Given the description of an element on the screen output the (x, y) to click on. 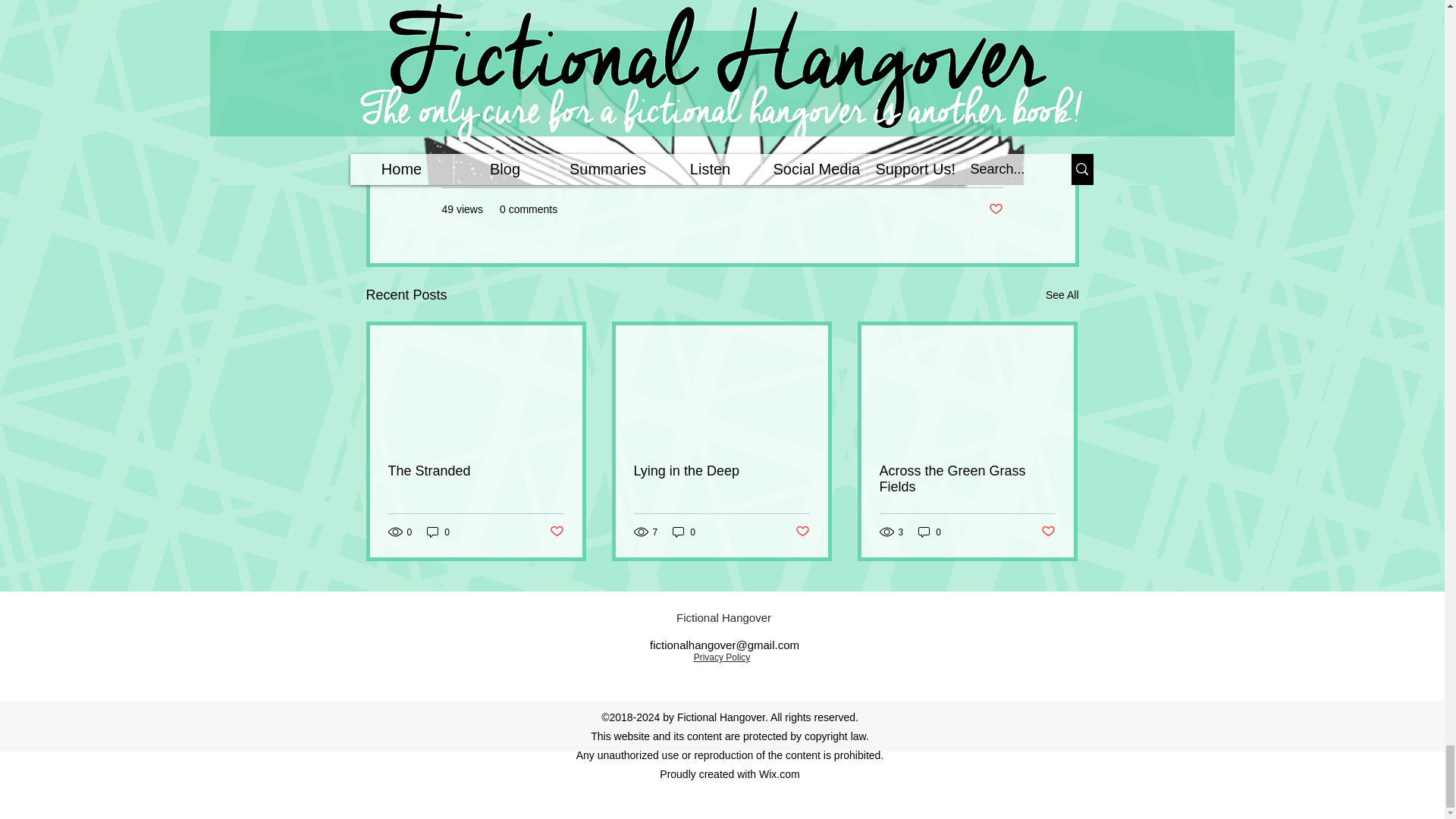
Post not marked as liked (995, 209)
0 (438, 531)
Summaries (976, 164)
Post not marked as liked (555, 531)
See All (1061, 295)
The Stranded (476, 471)
